Given the description of an element on the screen output the (x, y) to click on. 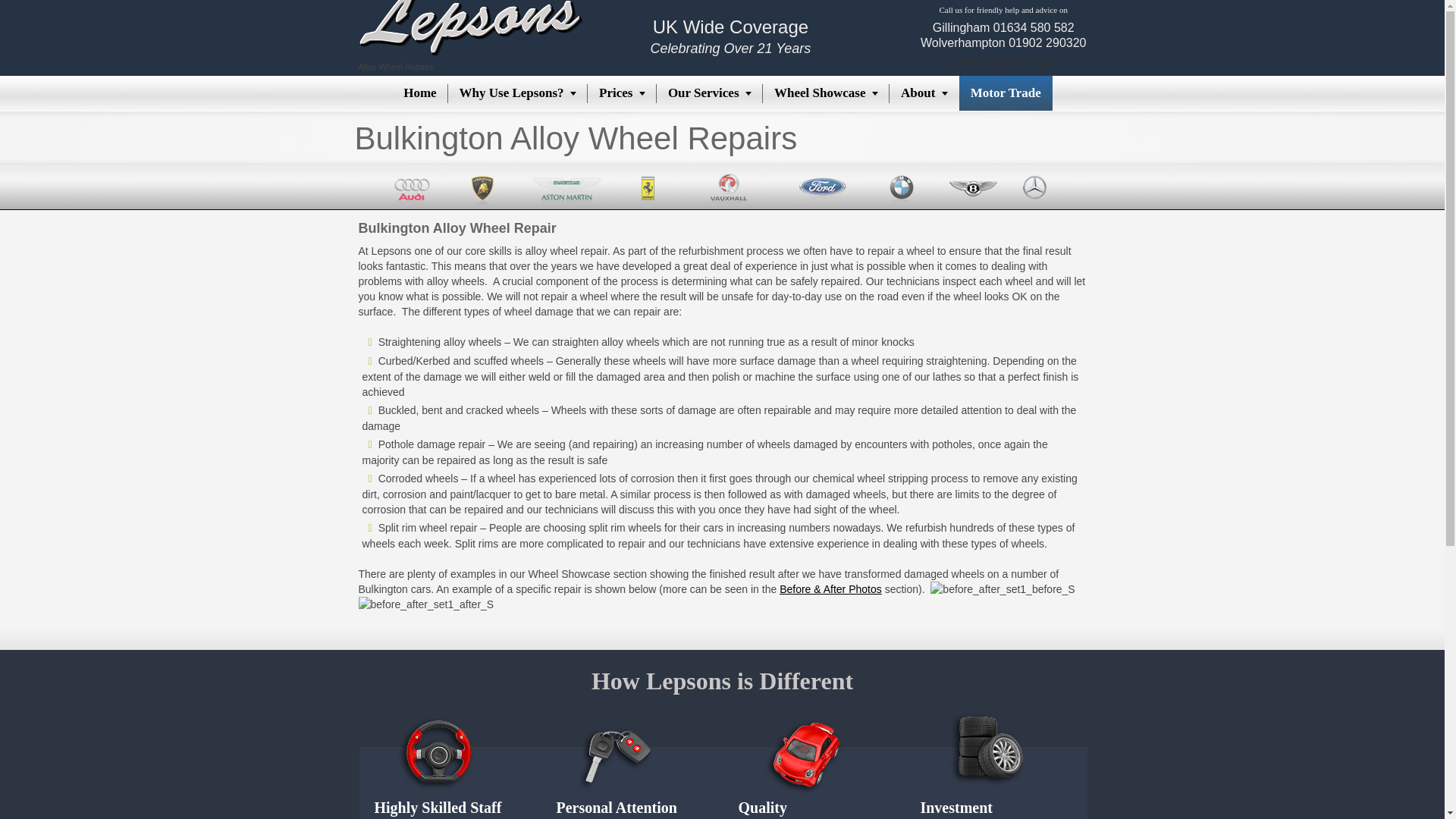
Wheel Showcase (825, 93)
Before and After Photos (830, 589)
Alloy Wheel Refurbishment by Lepsons (418, 93)
Prices (622, 93)
Our Services (709, 93)
Home (418, 93)
Why Use Lepsons? (518, 93)
